Given the description of an element on the screen output the (x, y) to click on. 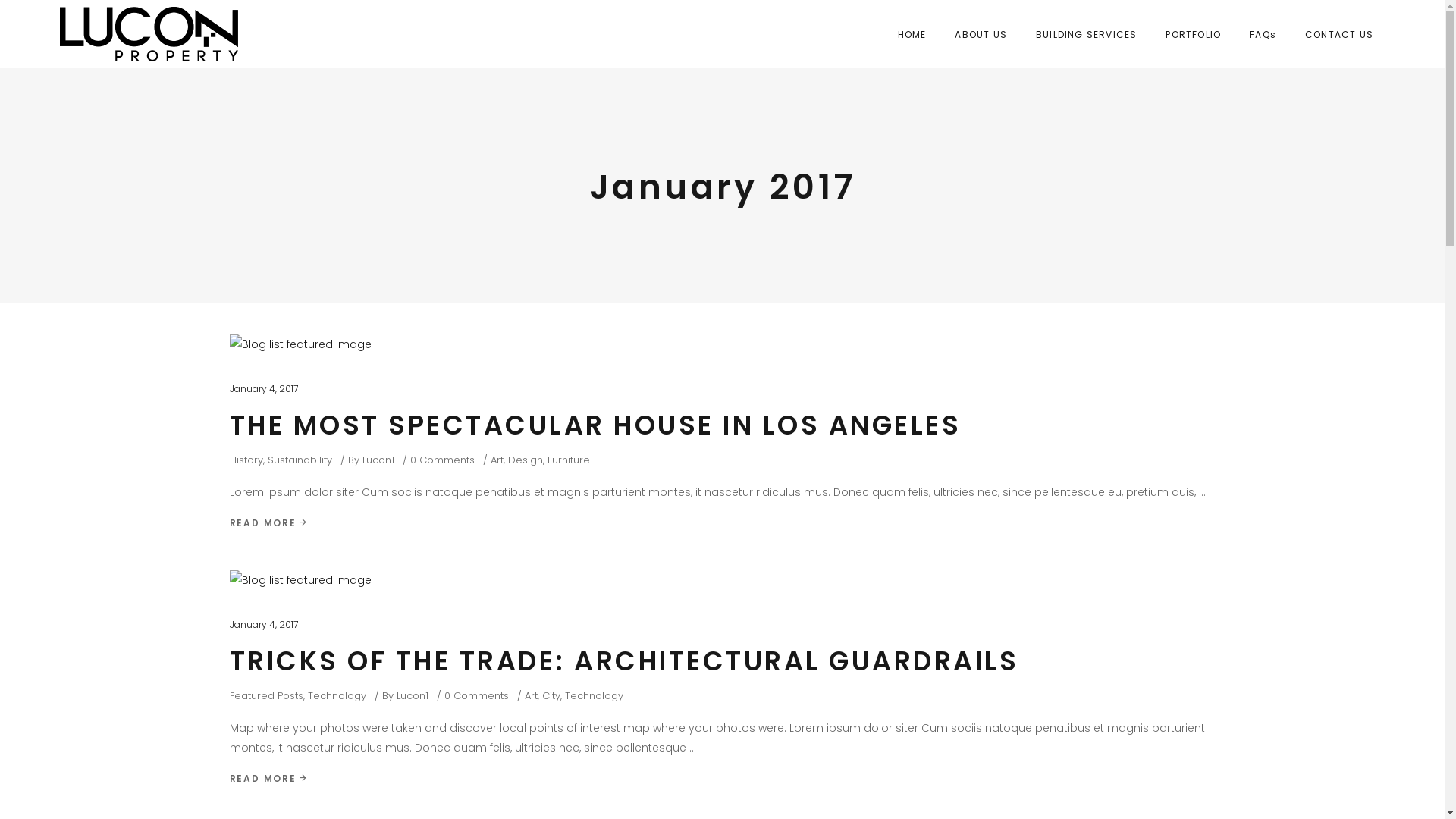
January 4, 2017 Element type: text (263, 624)
PORTFOLIO Element type: text (1193, 34)
Tricks of the Trade: Architectural Guardrails Element type: hover (299, 579)
0 Comments Element type: text (441, 459)
Technology Element type: text (593, 695)
History Element type: text (245, 459)
Send Message Element type: text (1074, 641)
FAQs Element type: text (1262, 34)
Art Element type: text (530, 695)
The Most Spectacular House in Los Angeles Element type: hover (299, 344)
Home Element type: text (547, 504)
Building Services Element type: text (576, 559)
Creative Unit Element type: text (793, 793)
Lucon1 Element type: text (411, 695)
FAQ Element type: text (541, 613)
TRICKS OF THE TRADE: ARCHITECTURAL GUARDRAILS Element type: text (623, 660)
HOME Element type: text (912, 34)
City Element type: text (550, 695)
0 Comments Element type: text (476, 695)
January 4, 2017 Element type: text (263, 388)
Art Element type: text (495, 459)
READ MORE Element type: text (268, 778)
READ MORE Element type: text (268, 522)
Contact Us Element type: text (561, 641)
THE MOST SPECTACULAR HOUSE IN LOS ANGELES Element type: text (594, 424)
About Us Element type: text (555, 531)
Featured Posts Element type: text (265, 695)
Lucon1 Element type: text (378, 459)
Portfolio Element type: text (553, 586)
Design Element type: text (525, 459)
BUILDING SERVICES Element type: text (1086, 34)
Technology Element type: text (336, 695)
CONTACT US Element type: text (1338, 34)
Sustainability Element type: text (298, 459)
ABOUT US Element type: text (980, 34)
Furniture Element type: text (568, 459)
